Given the description of an element on the screen output the (x, y) to click on. 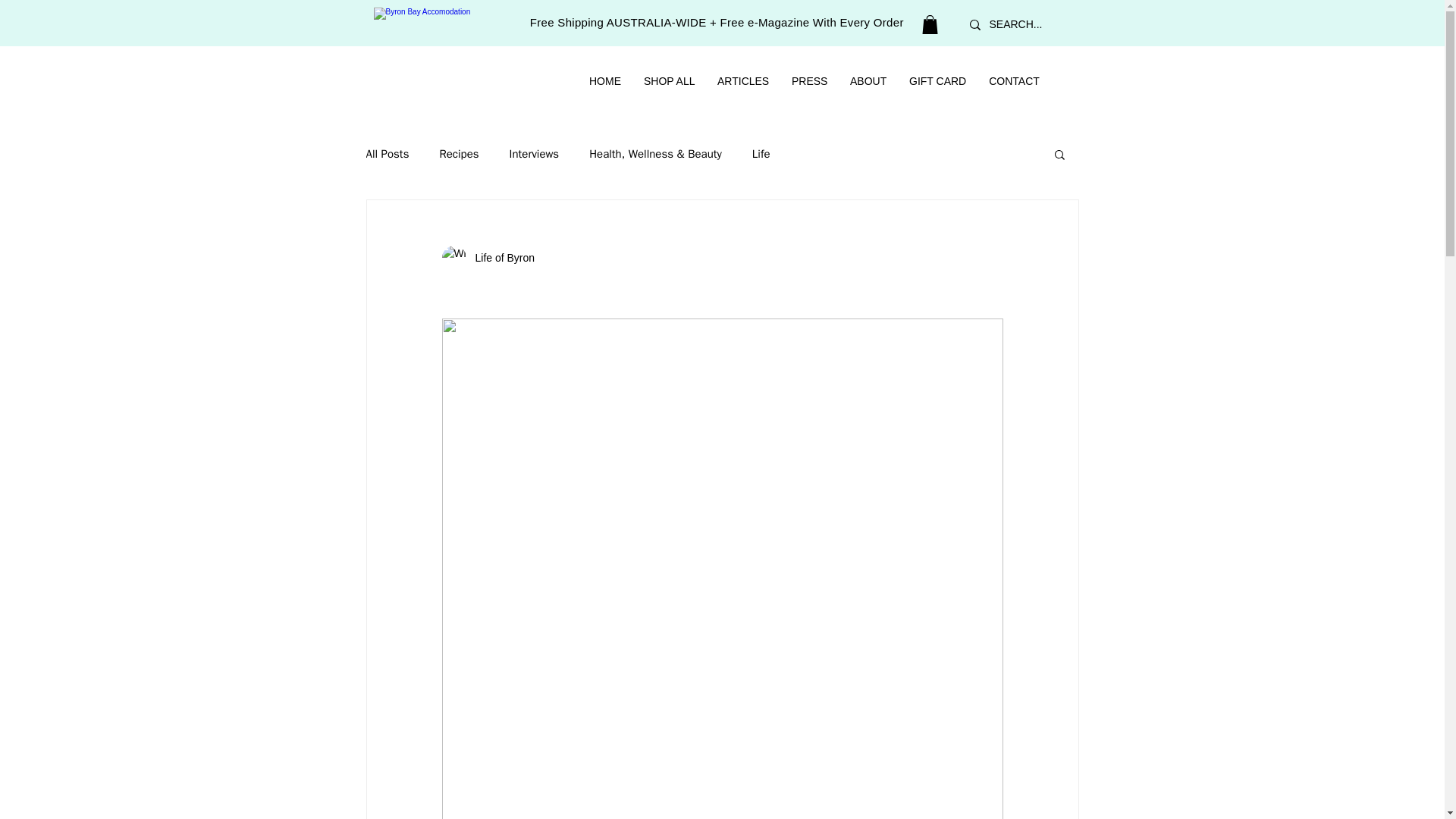
SHOP ALL (668, 81)
All Posts (387, 154)
Life of Byron  (499, 258)
PRESS (809, 81)
Life of Byron (487, 257)
GIFT CARD (937, 81)
HOME (604, 81)
ABOUT (868, 81)
Life (761, 154)
Recipes (459, 154)
